Given the description of an element on the screen output the (x, y) to click on. 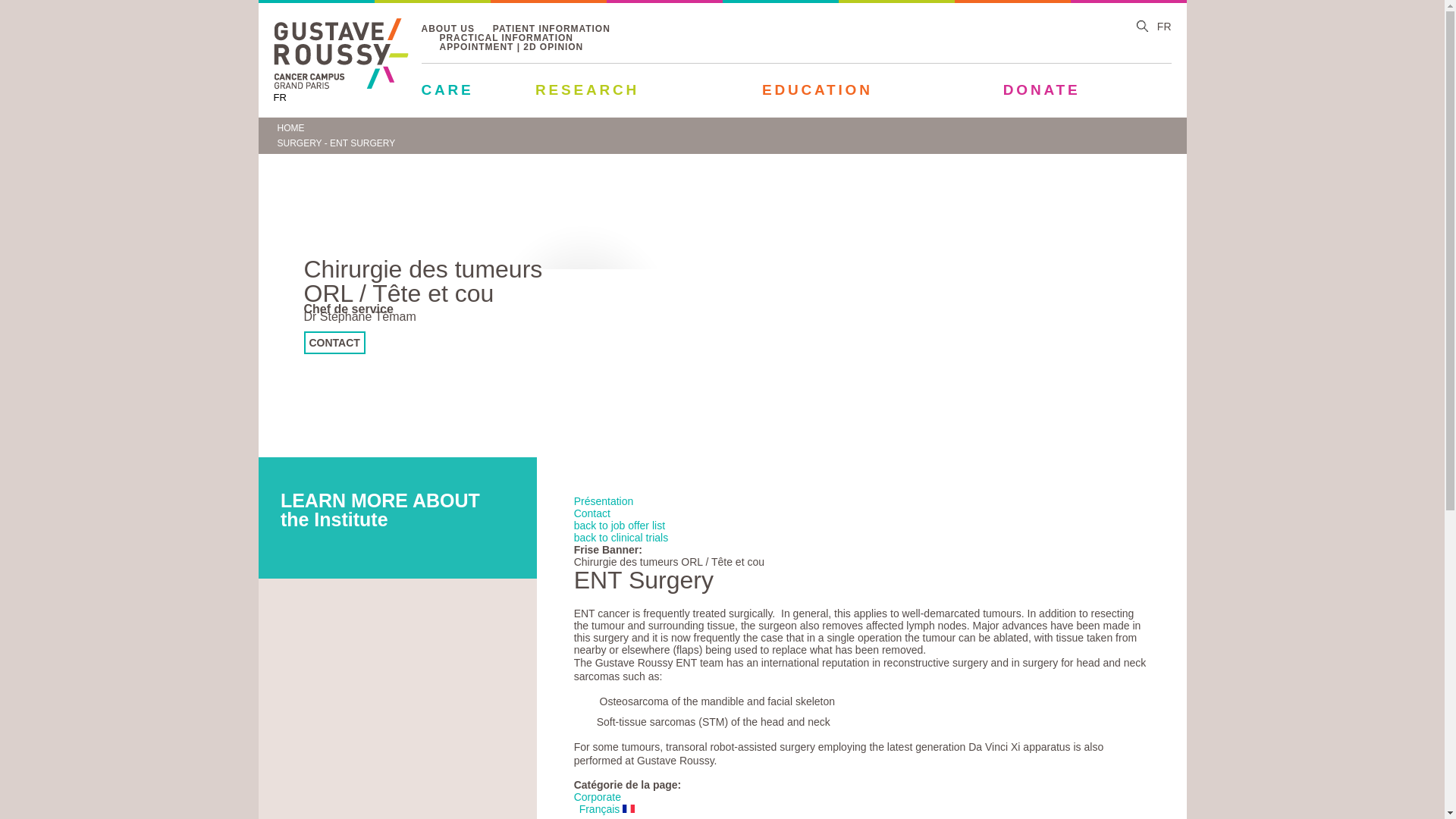
FR (279, 97)
Home (340, 85)
PRACTICAL INFORMATION (506, 38)
Search (1142, 26)
ABOUT US (448, 29)
PATIENT INFORMATION (551, 29)
